Given the description of an element on the screen output the (x, y) to click on. 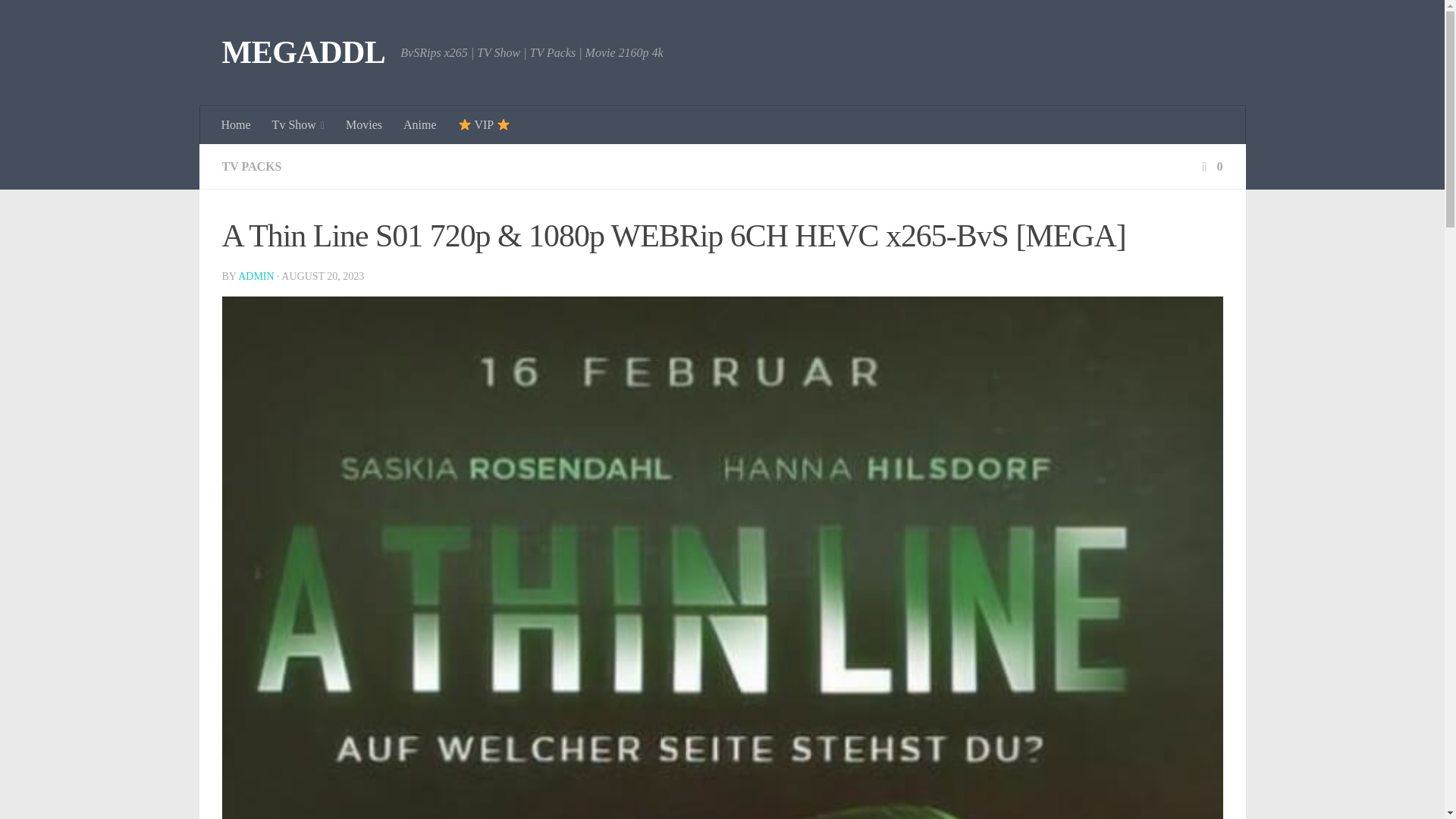
Movies (363, 125)
0 (1210, 165)
Home (236, 125)
ADMIN (255, 276)
Anime (419, 125)
MEGADDL (303, 53)
TV PACKS (251, 165)
VIP (483, 125)
Posts by admin (255, 276)
Skip to content (59, 20)
Tv Show (298, 125)
